Given the description of an element on the screen output the (x, y) to click on. 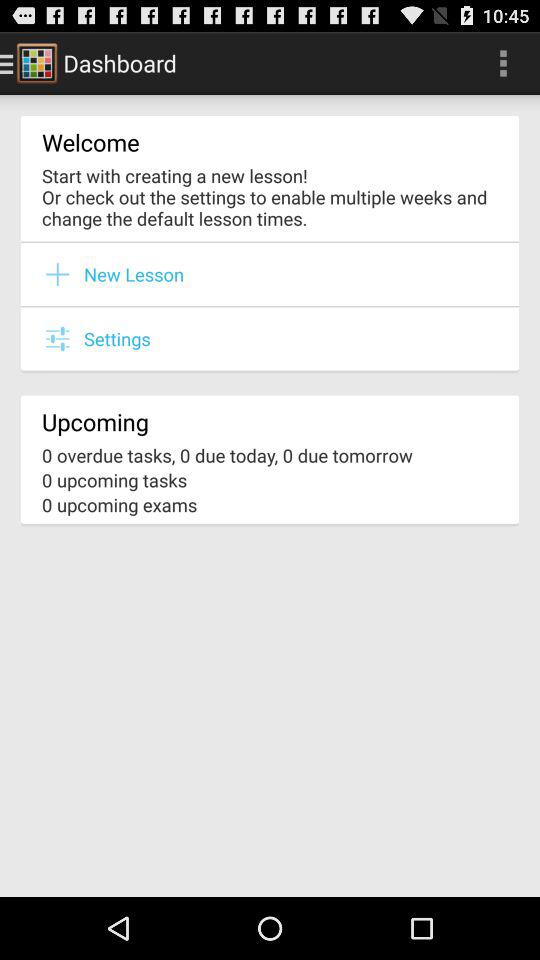
open the item below welcome item (269, 196)
